Given the description of an element on the screen output the (x, y) to click on. 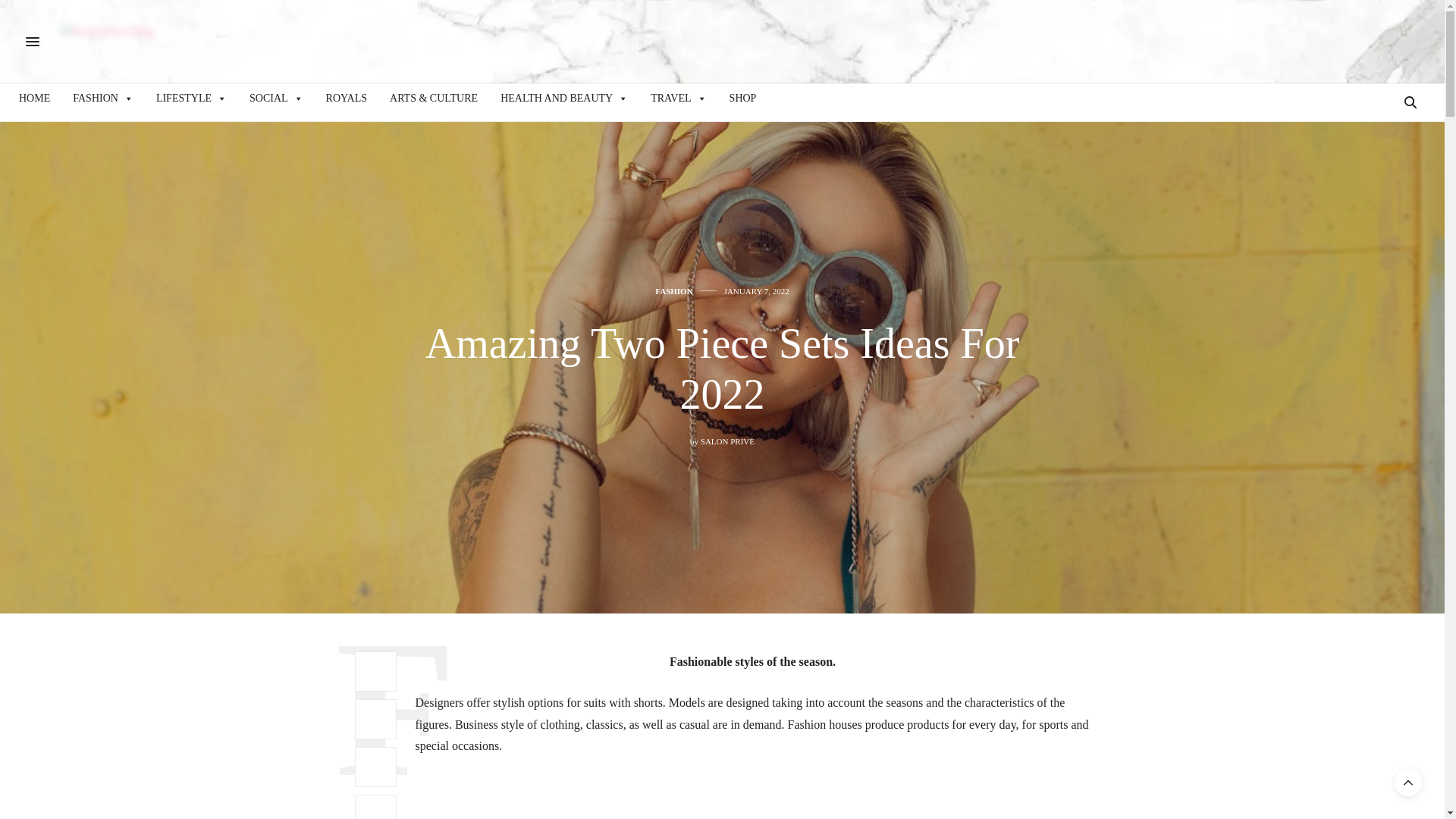
Salon Prive Mag (107, 40)
Scroll To Top (1408, 782)
